Given the description of an element on the screen output the (x, y) to click on. 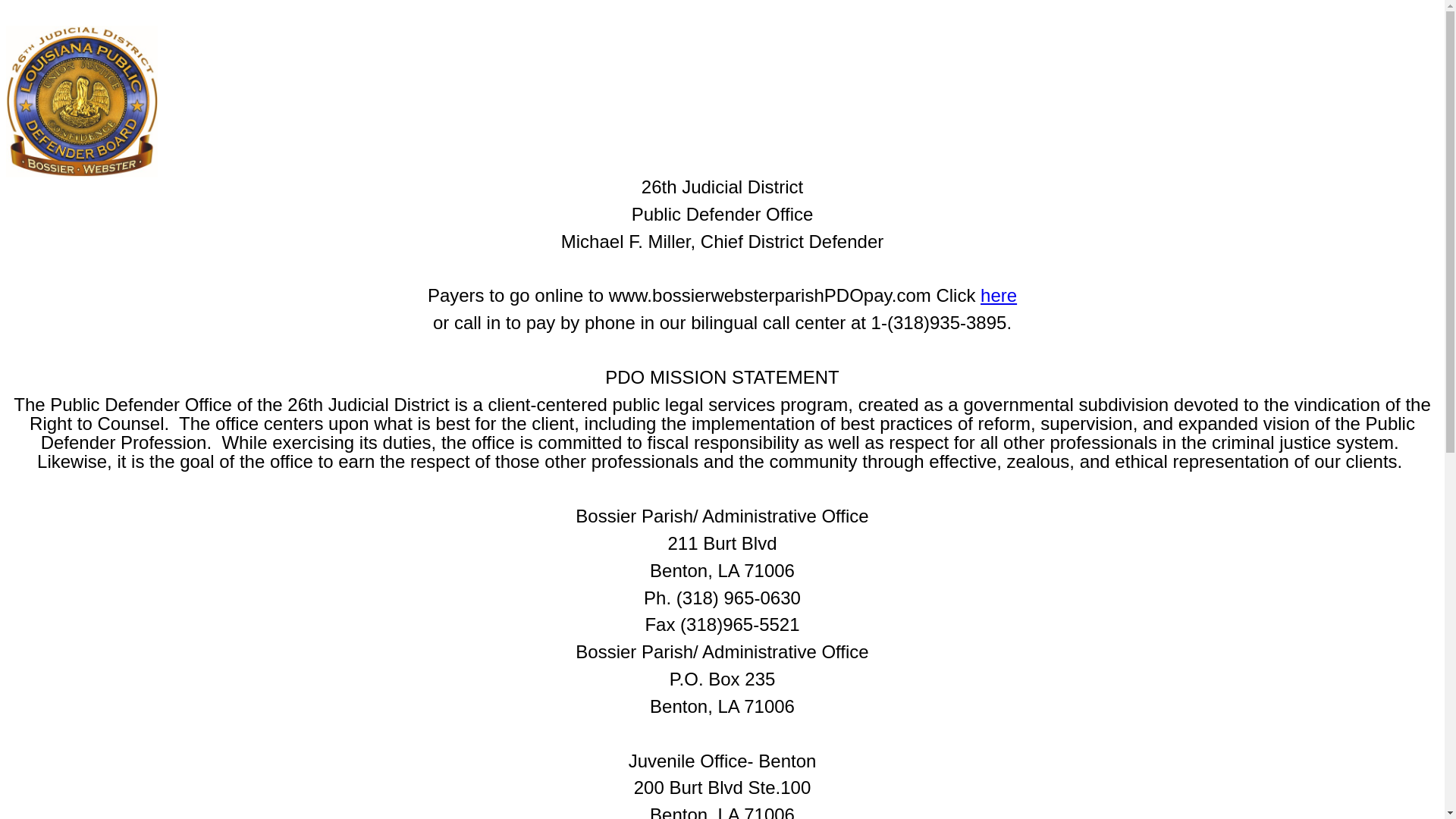
here Element type: text (998, 295)
